Given the description of an element on the screen output the (x, y) to click on. 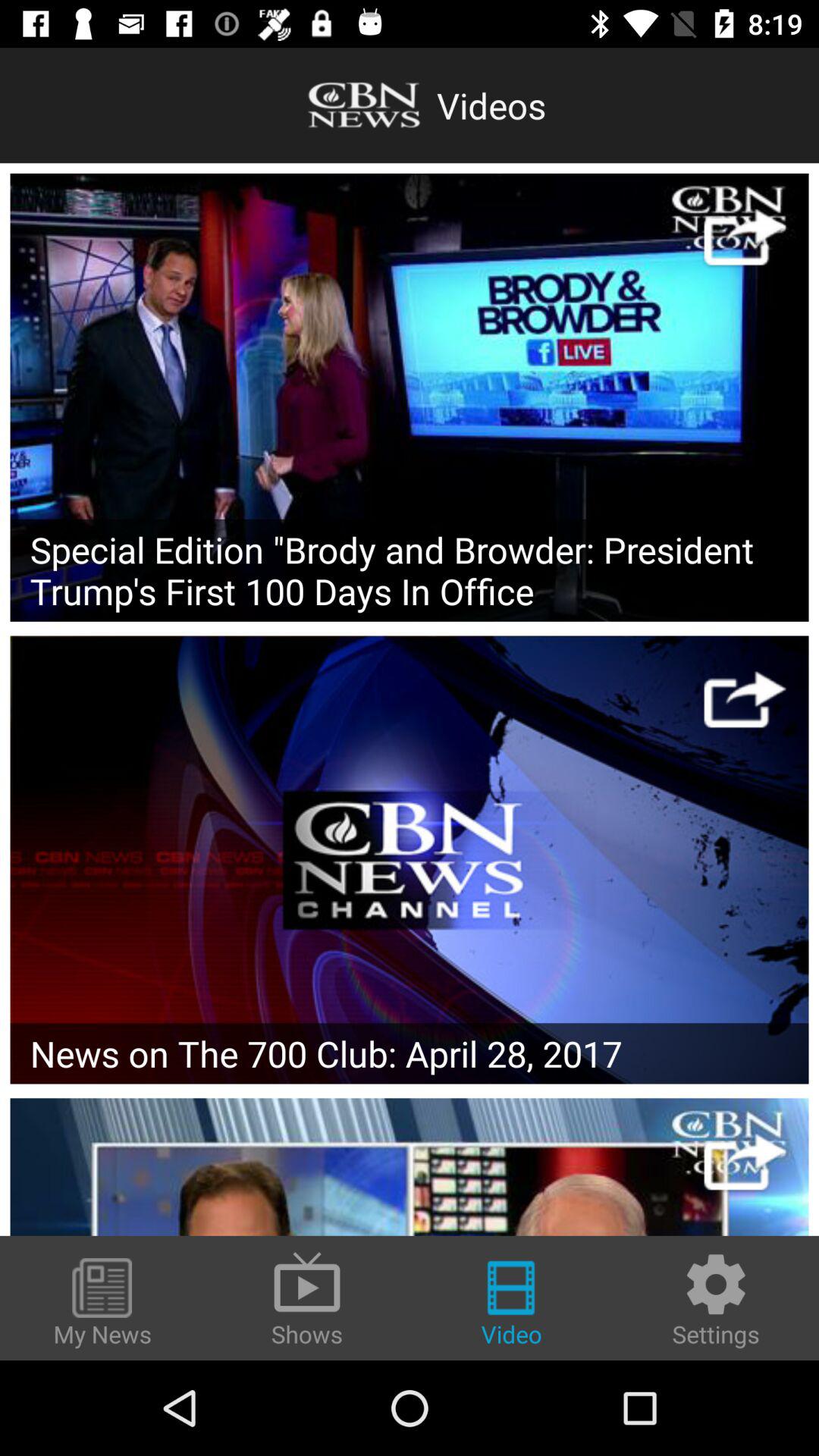
choose the item to the right of video (715, 1299)
